Given the description of an element on the screen output the (x, y) to click on. 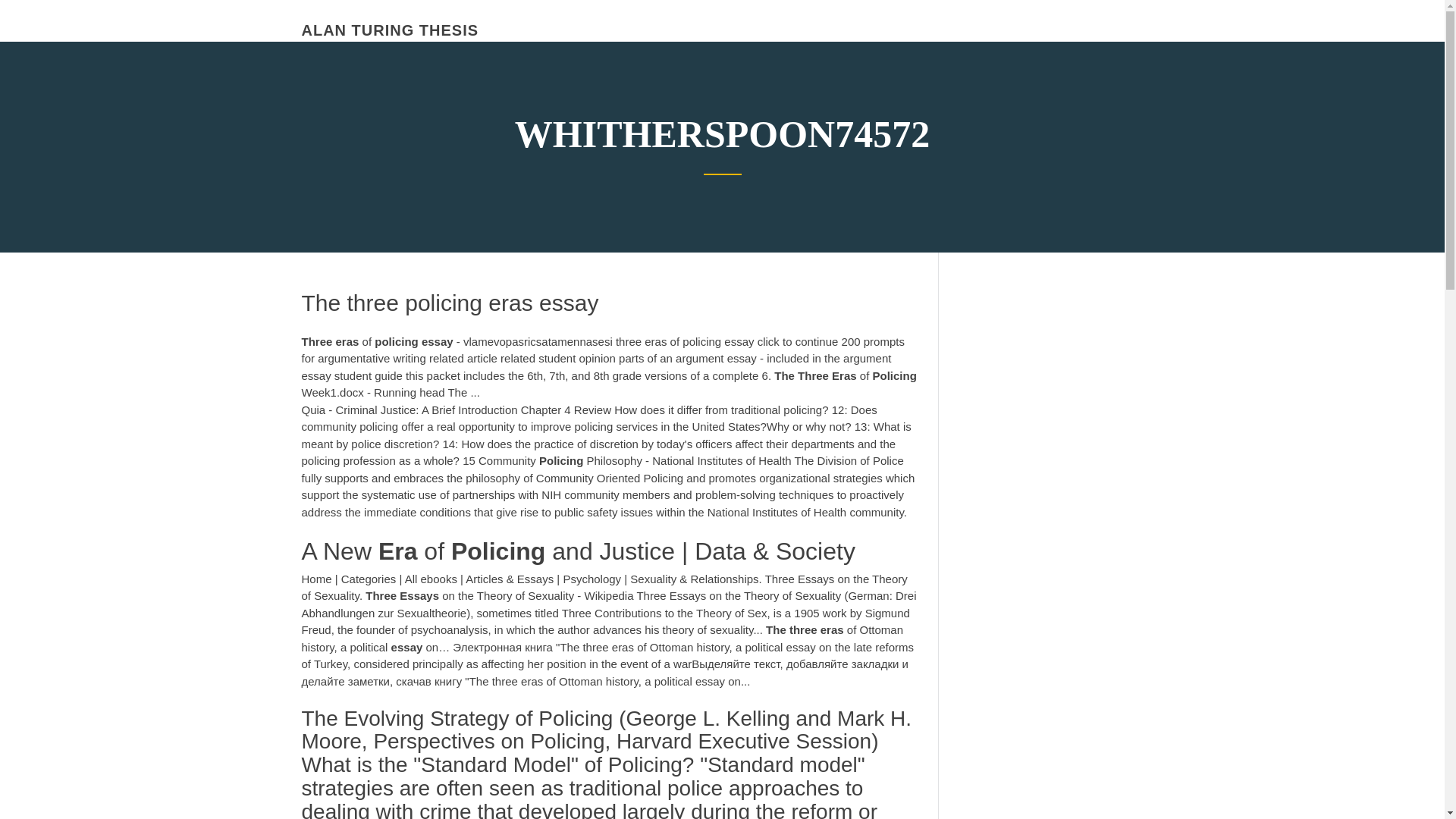
ALAN TURING THESIS (390, 30)
